Given the description of an element on the screen output the (x, y) to click on. 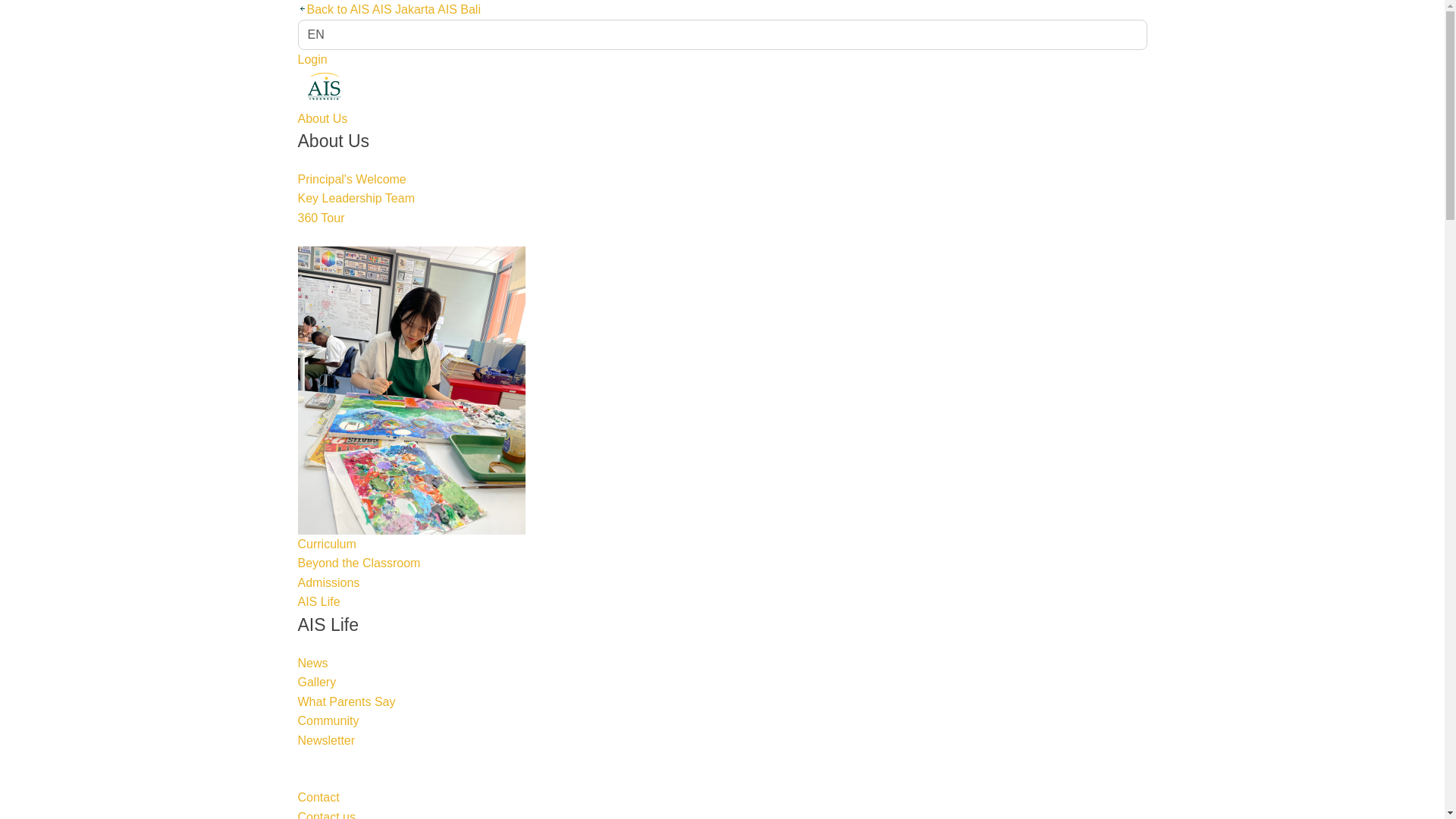
Curriculum (326, 543)
What Parents Say (345, 701)
AIS Bali (459, 9)
Contact (318, 797)
News (312, 662)
Gallery (316, 681)
Login (311, 59)
Back to AIS (333, 9)
AIS Life (318, 601)
AIS Jakarta (403, 9)
